Given the description of an element on the screen output the (x, y) to click on. 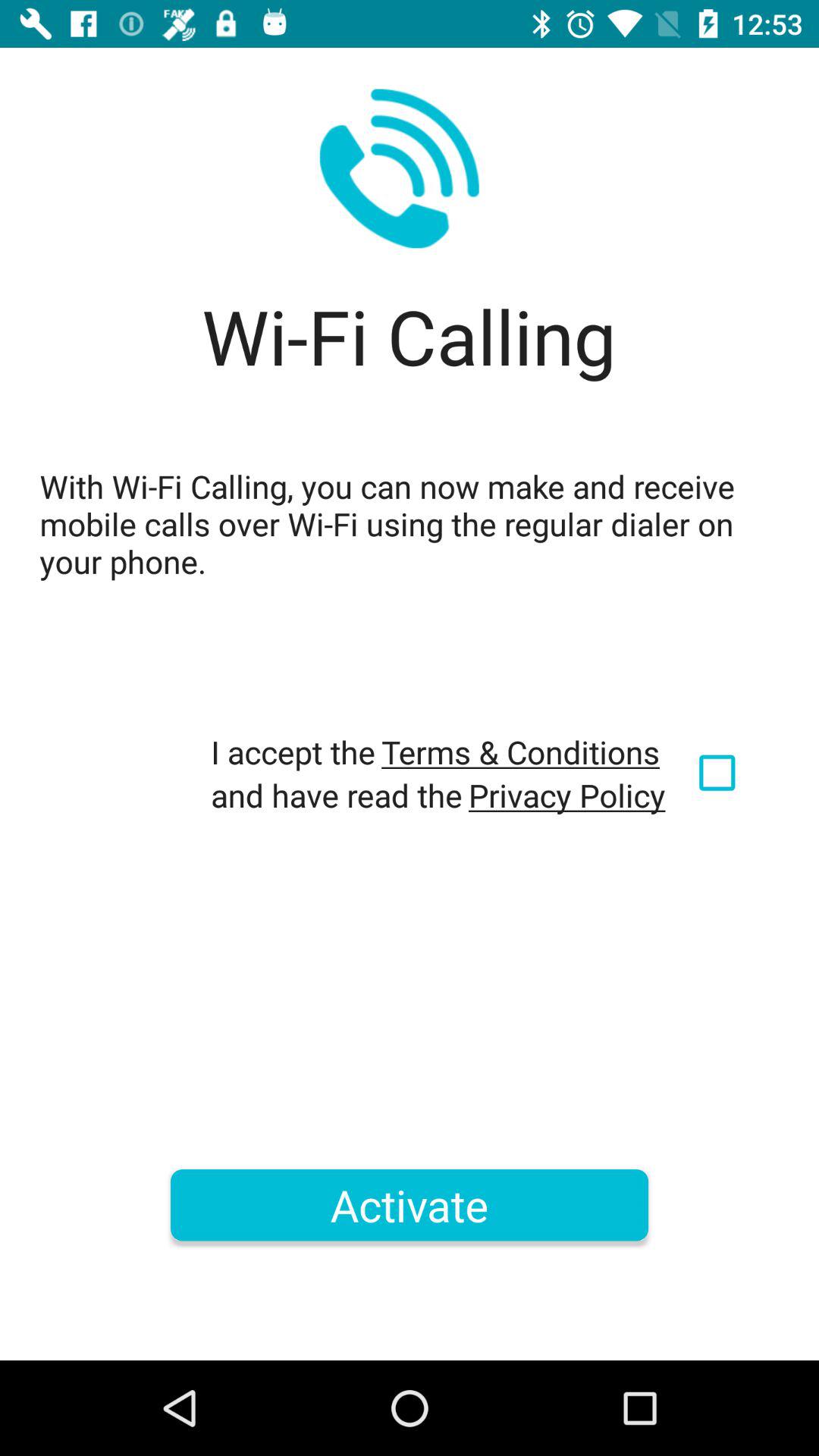
launch the icon to the right of i accept the item (520, 751)
